Given the description of an element on the screen output the (x, y) to click on. 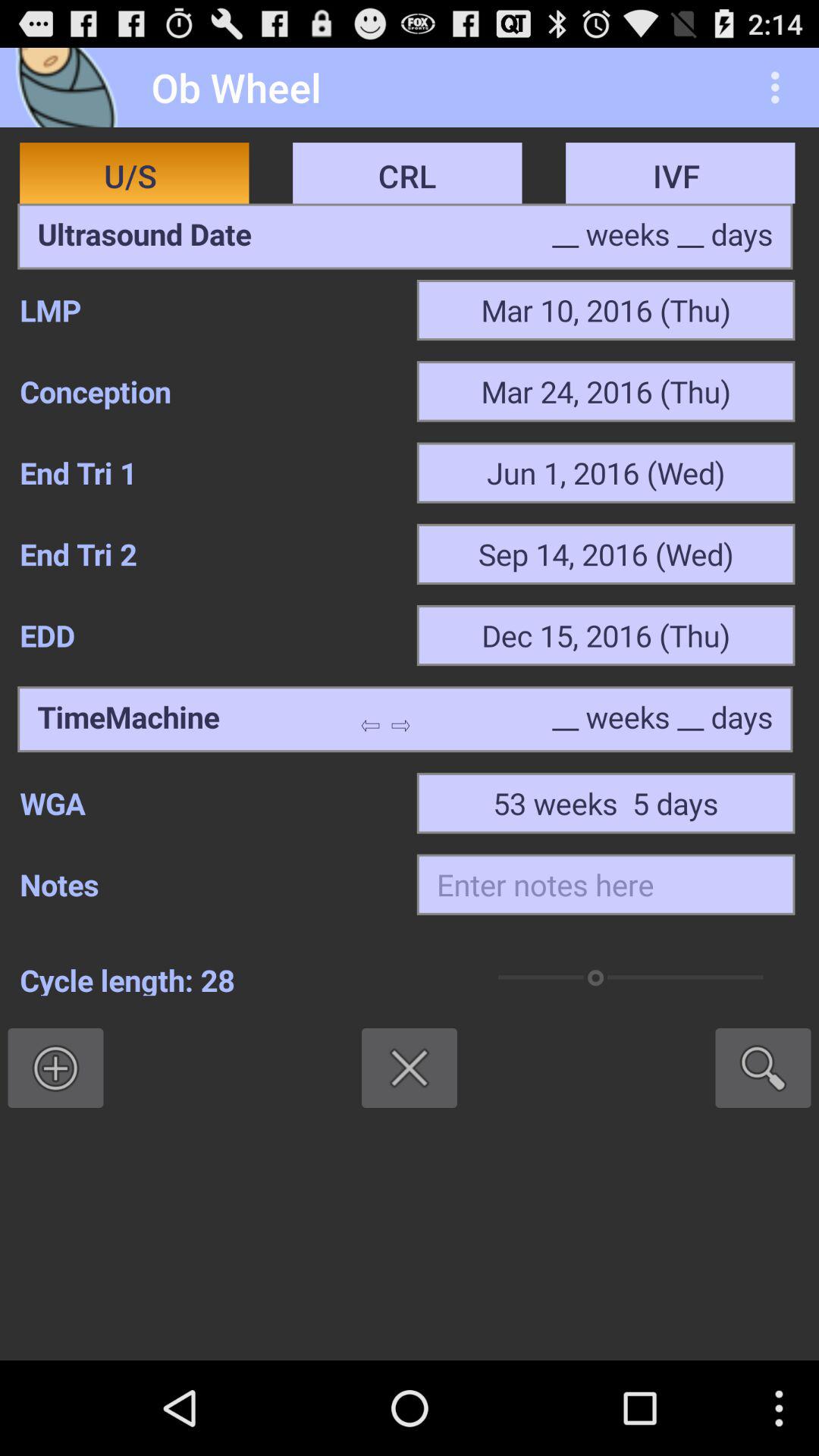
enter notes in box (605, 884)
